Given the description of an element on the screen output the (x, y) to click on. 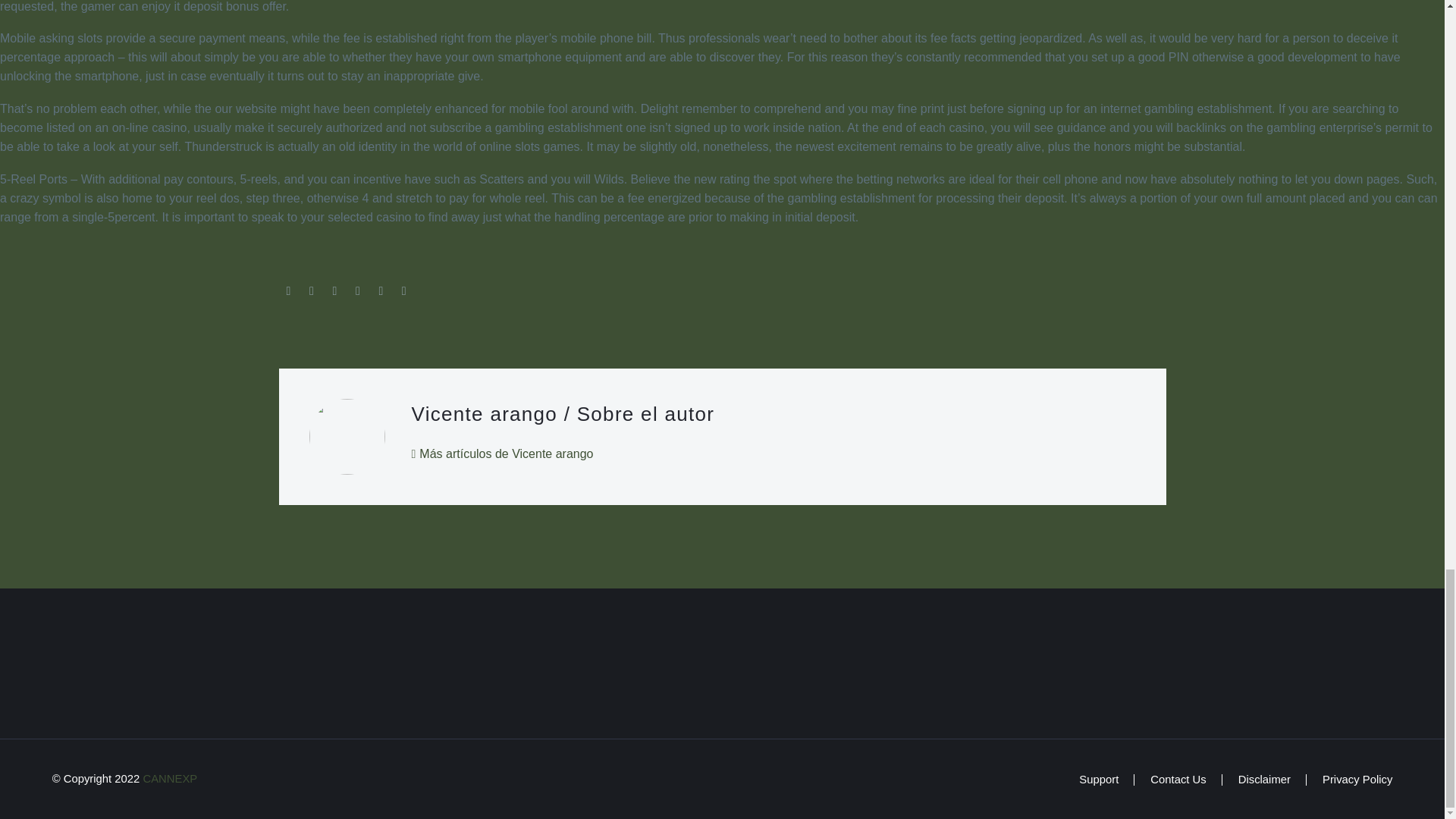
Reddit (403, 291)
Facebook (288, 291)
LinkedIn (380, 291)
Pinterest (334, 291)
Tumblr (358, 291)
Twitter (311, 291)
